Given the description of an element on the screen output the (x, y) to click on. 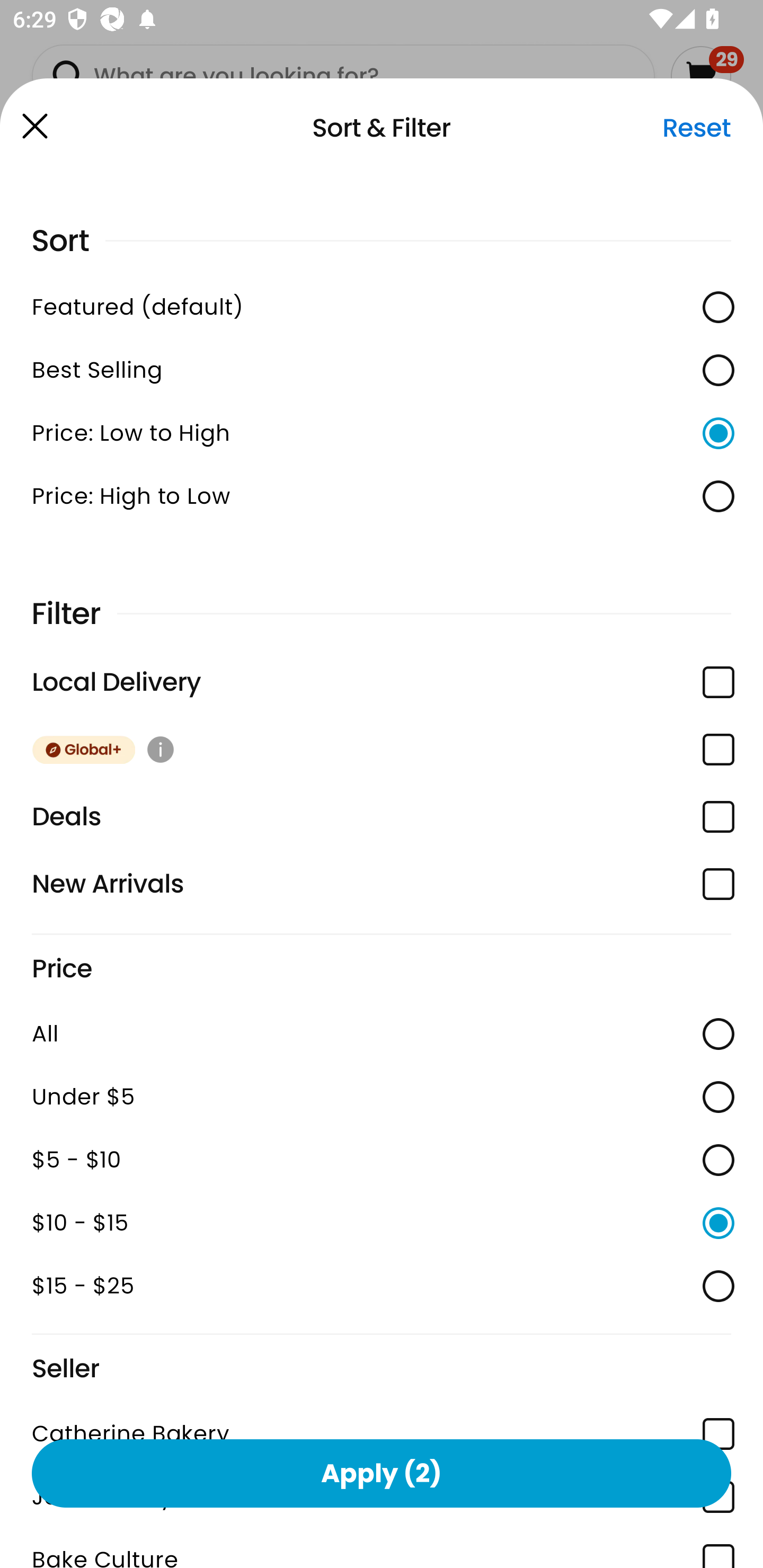
Reset (696, 127)
Apply (2) (381, 1472)
